Given the description of an element on the screen output the (x, y) to click on. 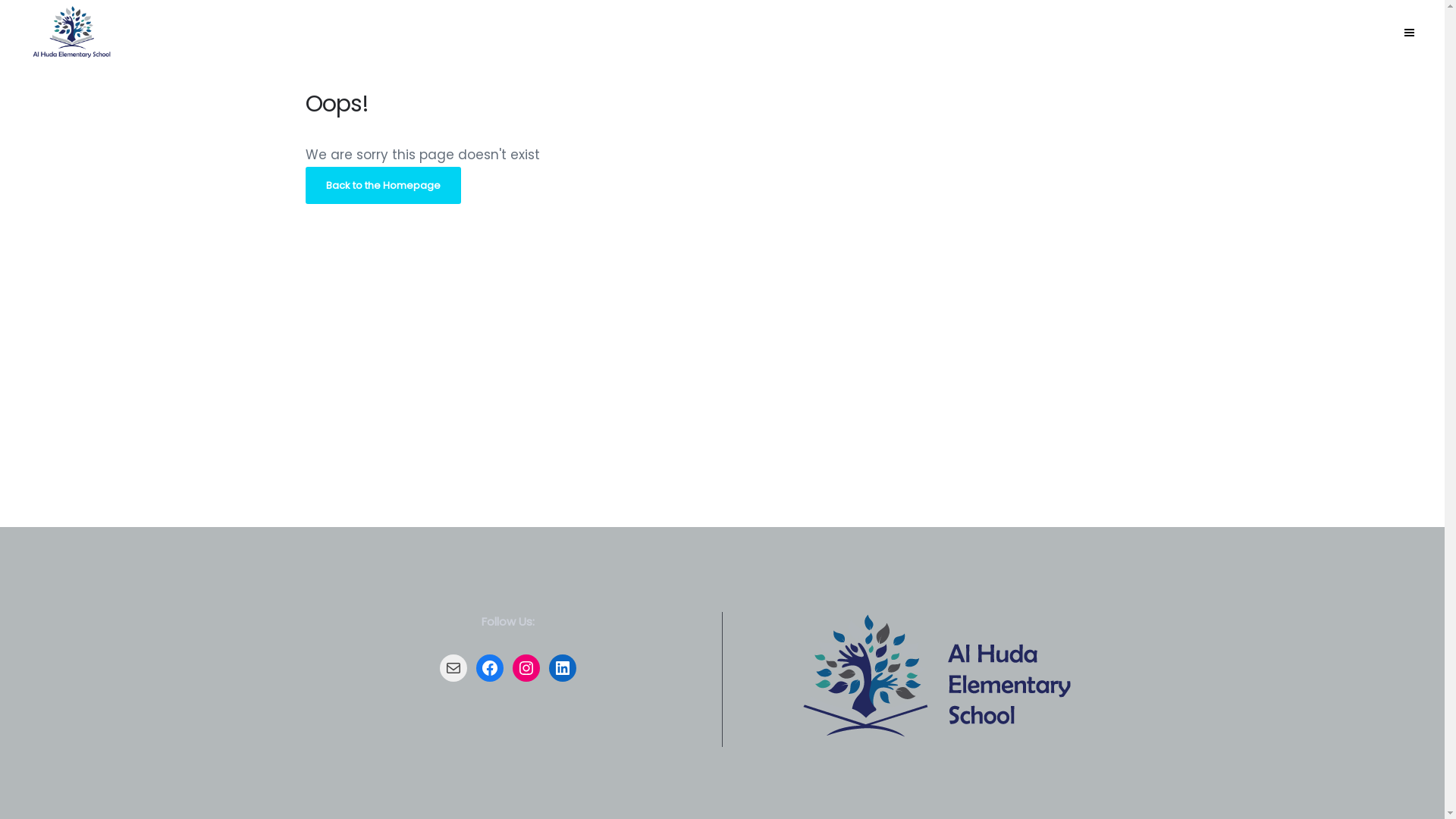
  Element type: text (1409, 32)
Mail Element type: text (453, 667)
LinkedIn Element type: text (562, 667)
Instagram Element type: text (525, 667)
Facebook Element type: text (489, 667)
Back to the Homepage Element type: text (382, 184)
